Given the description of an element on the screen output the (x, y) to click on. 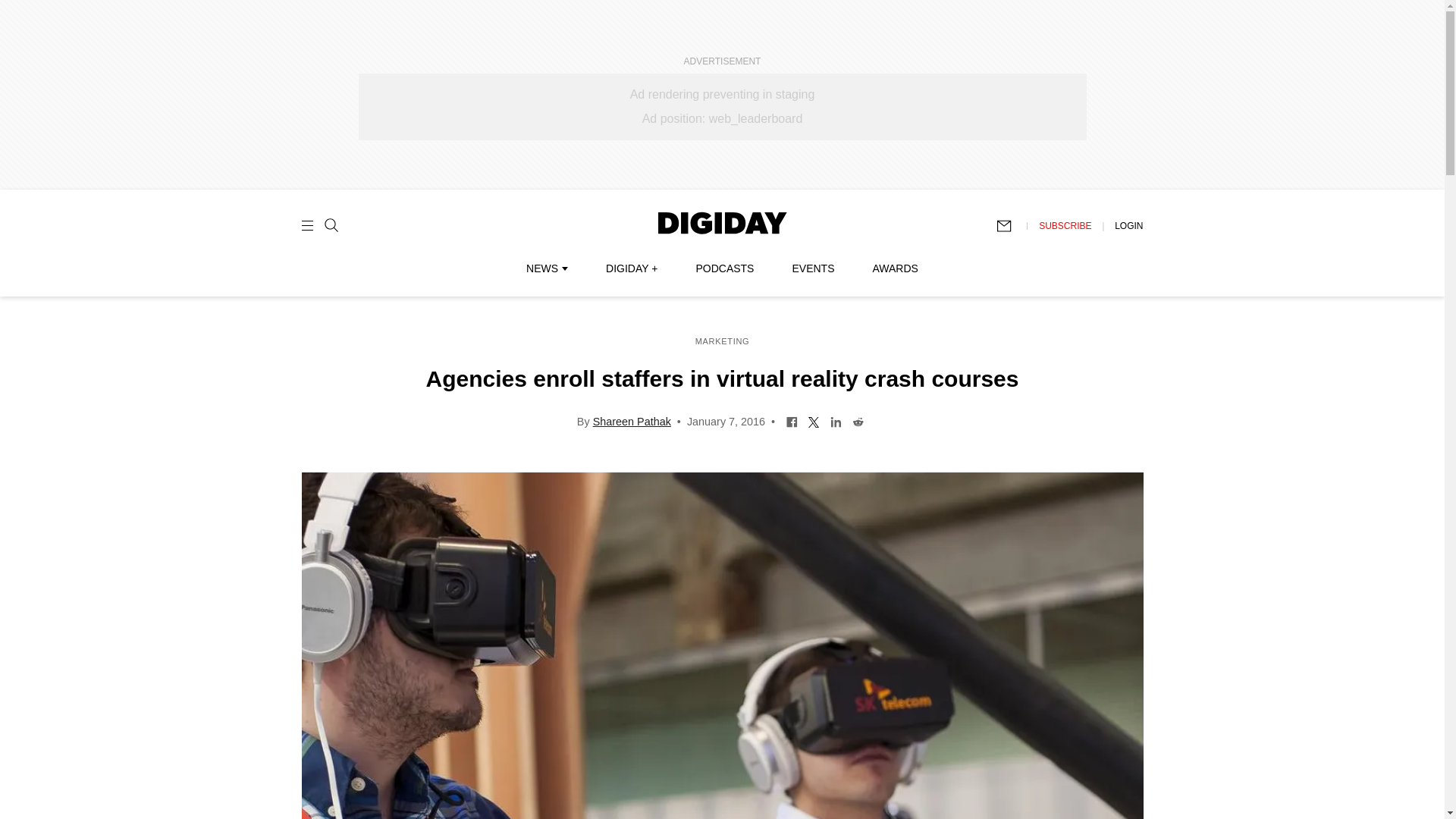
Share on LinkedIn (836, 420)
Share on Twitter (814, 420)
Share on Reddit (857, 420)
EVENTS (813, 267)
AWARDS (894, 267)
SUBSCRIBE (1064, 225)
LOGIN (1128, 225)
PODCASTS (725, 267)
NEWS (546, 267)
Share on Facebook (791, 420)
Subscribe (1010, 225)
